Given the description of an element on the screen output the (x, y) to click on. 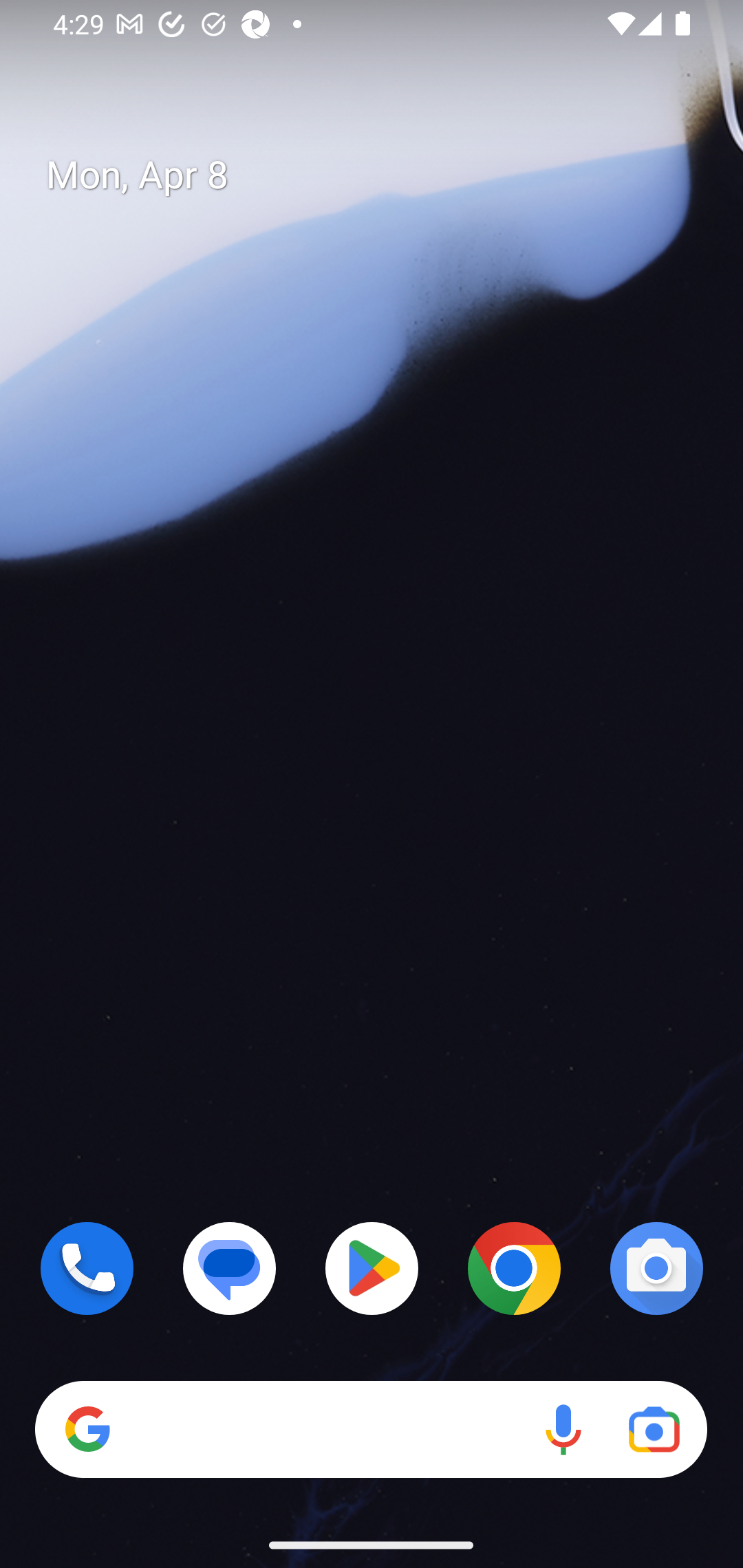
Mon, Apr 8 (386, 175)
Phone (86, 1268)
Messages (229, 1268)
Play Store (371, 1268)
Chrome (513, 1268)
Camera (656, 1268)
Search Voice search Google Lens (370, 1429)
Voice search (562, 1429)
Google Lens (653, 1429)
